Given the description of an element on the screen output the (x, y) to click on. 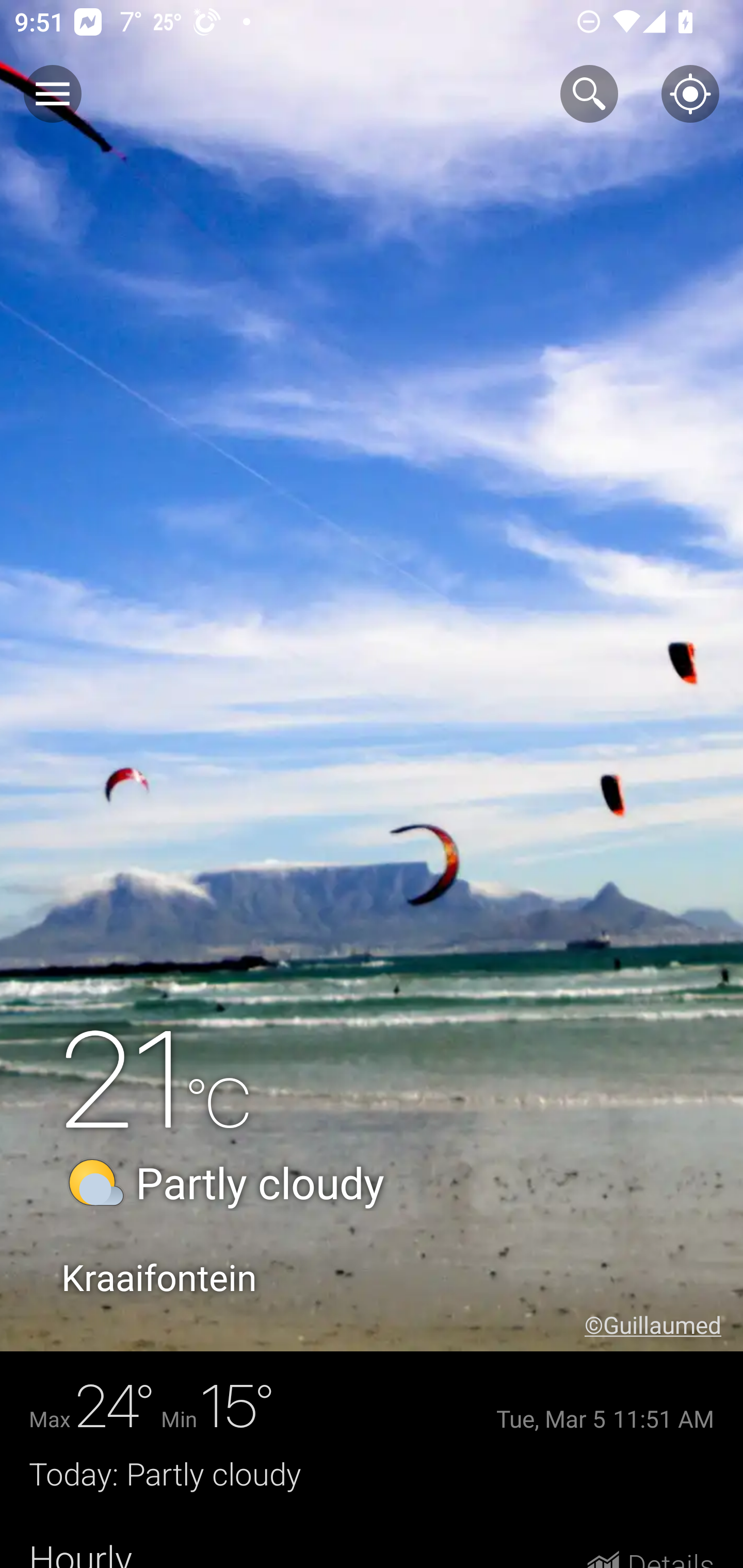
©Guillaumed (663, 1324)
